Given the description of an element on the screen output the (x, y) to click on. 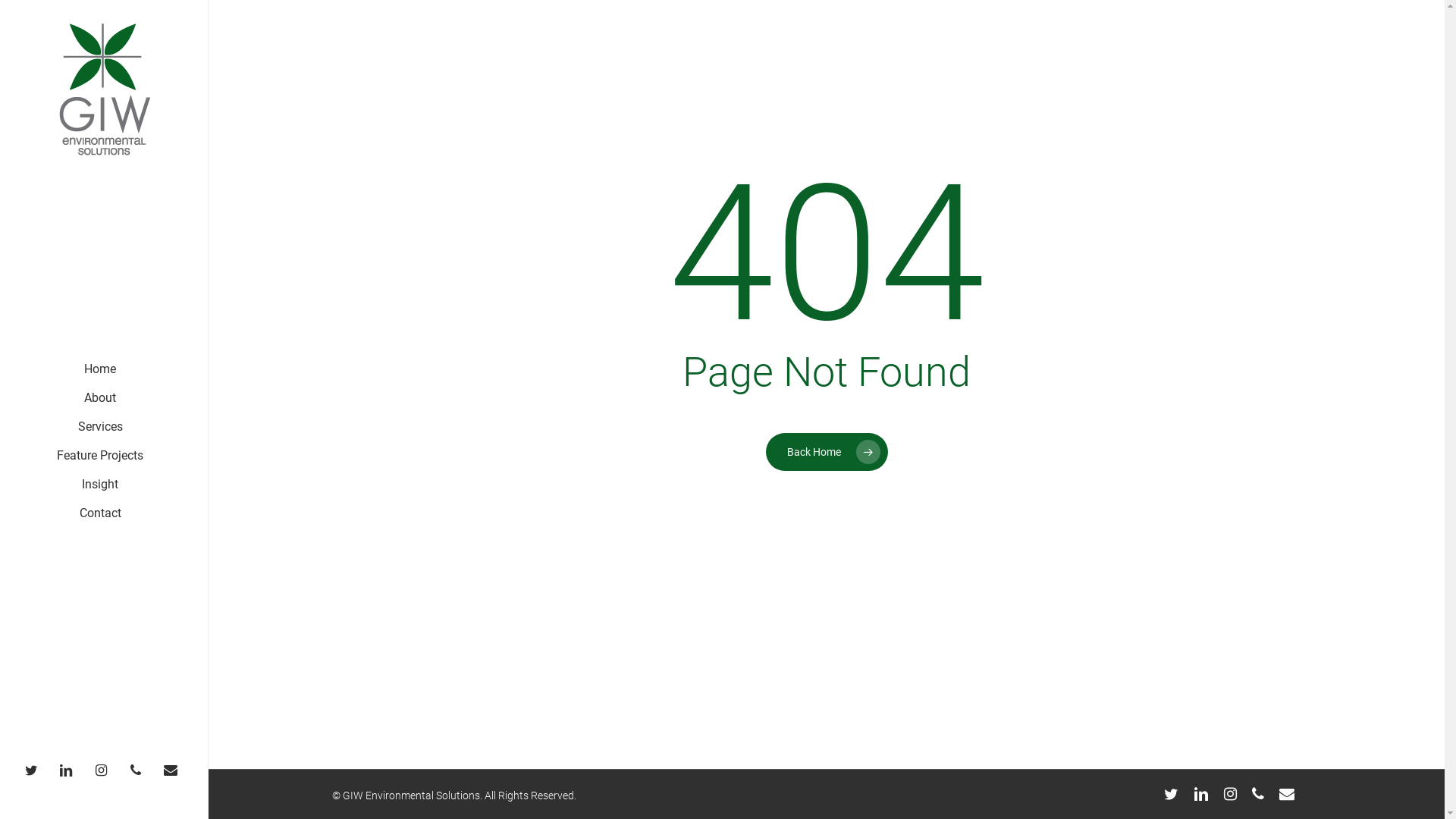
Back Home Element type: text (826, 451)
twitter Element type: text (34, 769)
Feature Projects Element type: text (99, 455)
Insight Element type: text (99, 484)
linkedin Element type: text (1200, 793)
Contact Element type: text (99, 512)
instagram Element type: text (1229, 793)
instagram Element type: text (104, 769)
Services Element type: text (99, 426)
About Element type: text (100, 397)
email Element type: text (1286, 793)
phone Element type: text (139, 769)
twitter Element type: text (1171, 793)
email Element type: text (173, 769)
Home Element type: text (100, 368)
phone Element type: text (1258, 793)
linkedin Element type: text (69, 769)
